Given the description of an element on the screen output the (x, y) to click on. 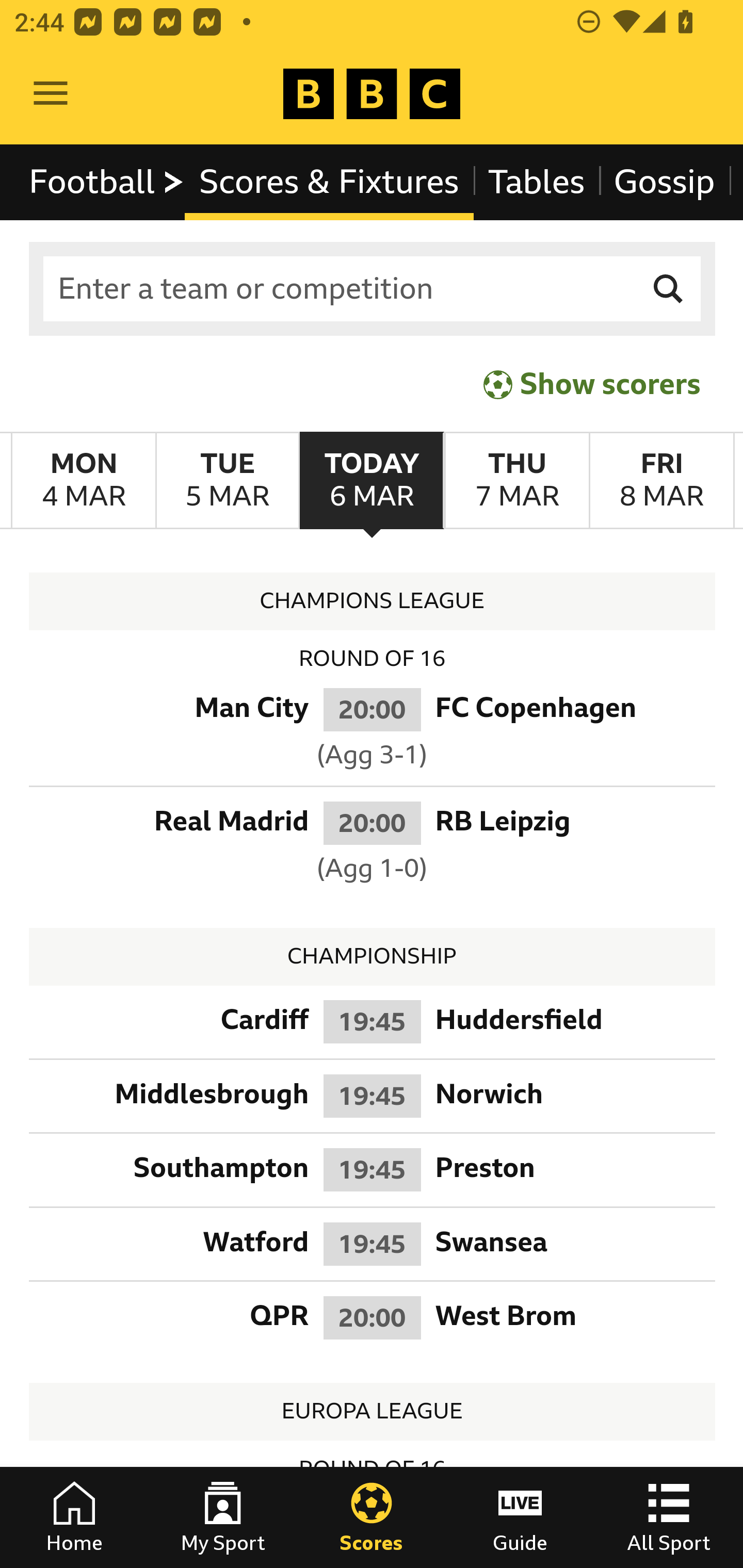
Open Menu (50, 93)
Football  (106, 181)
Scores & Fixtures (329, 181)
Tables (536, 181)
Gossip (664, 181)
Search (669, 289)
Show scorers (591, 383)
MondayMarch 4th Monday March 4th (83, 480)
TuesdayMarch 5th Tuesday March 5th (227, 480)
ThursdayMarch 7th Thursday March 7th (516, 480)
FridayMarch 8th Friday March 8th (661, 480)
Home (74, 1517)
My Sport (222, 1517)
Guide (519, 1517)
All Sport (668, 1517)
